Given the description of an element on the screen output the (x, y) to click on. 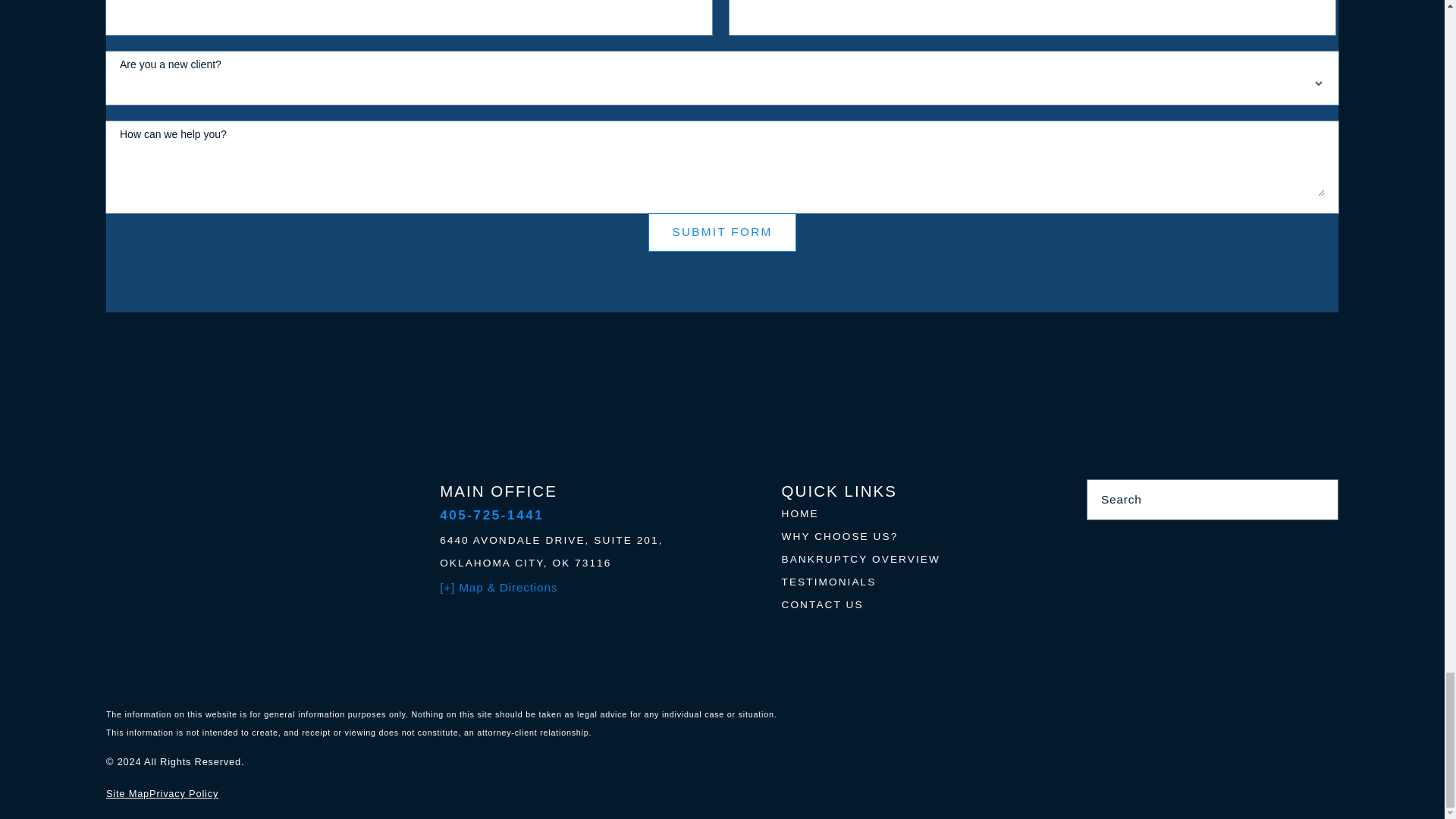
Facebook (1109, 542)
Twitter (1246, 542)
Yelp (1177, 542)
Google Business Profile (1315, 542)
